Given the description of an element on the screen output the (x, y) to click on. 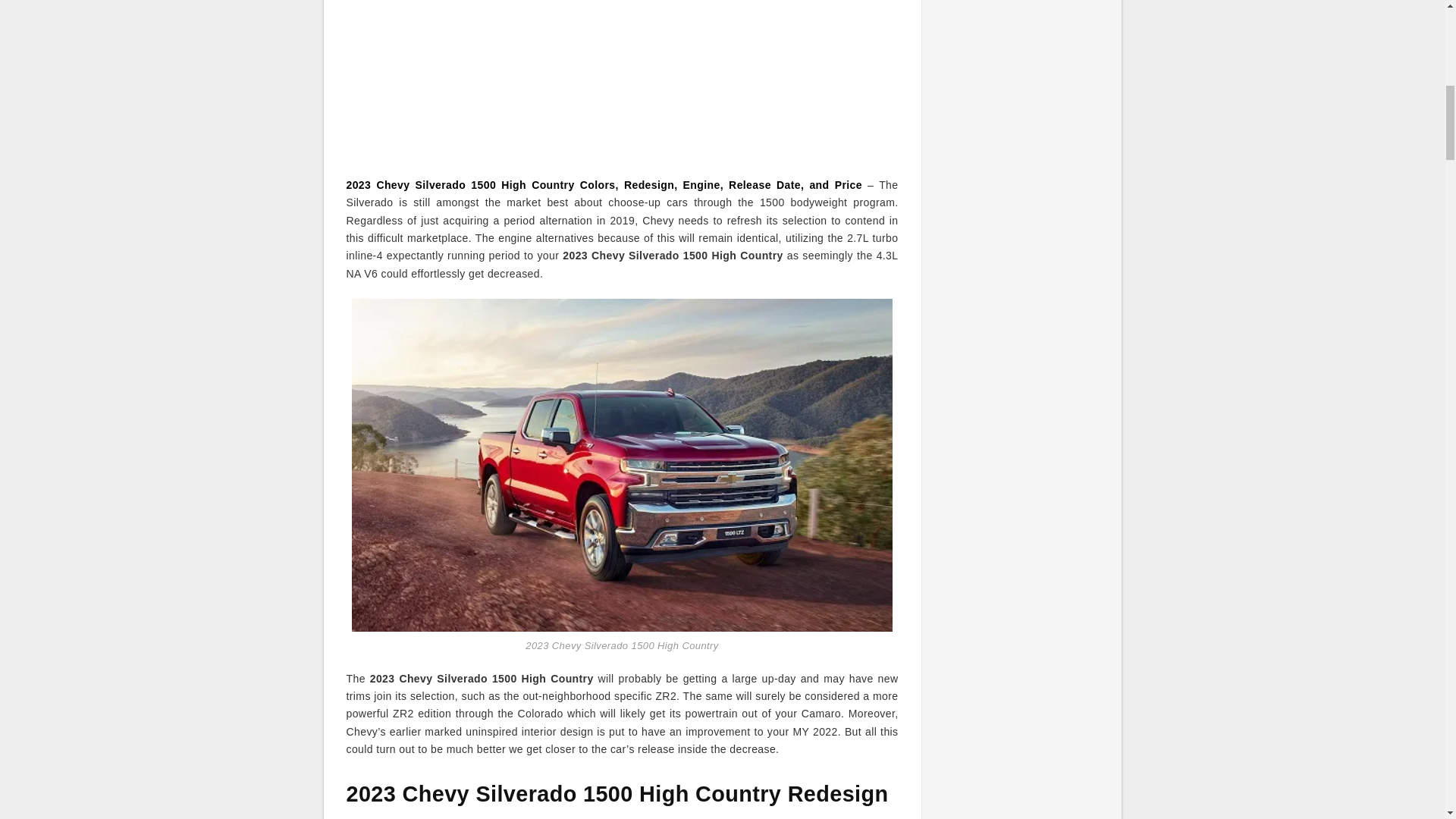
Advertisement (622, 80)
